Given the description of an element on the screen output the (x, y) to click on. 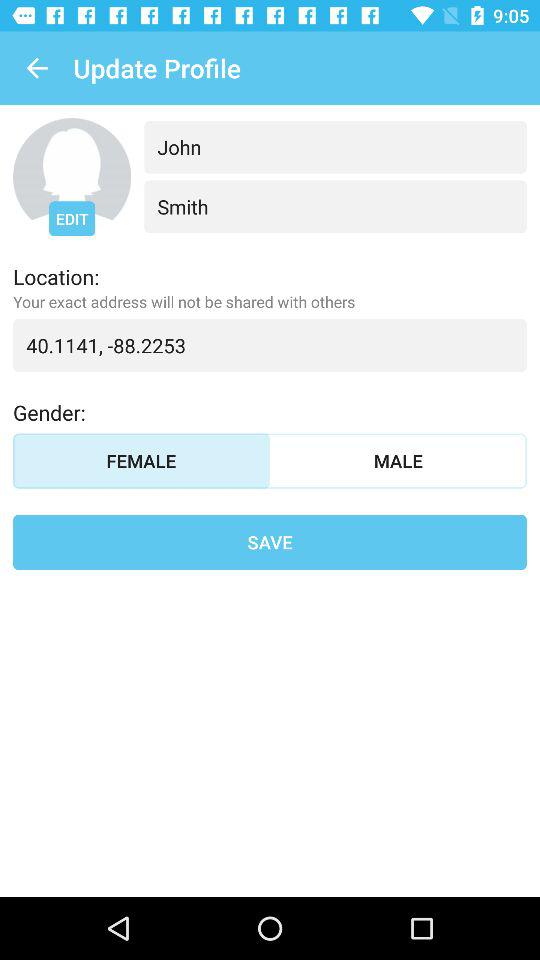
swipe to john item (335, 146)
